Given the description of an element on the screen output the (x, y) to click on. 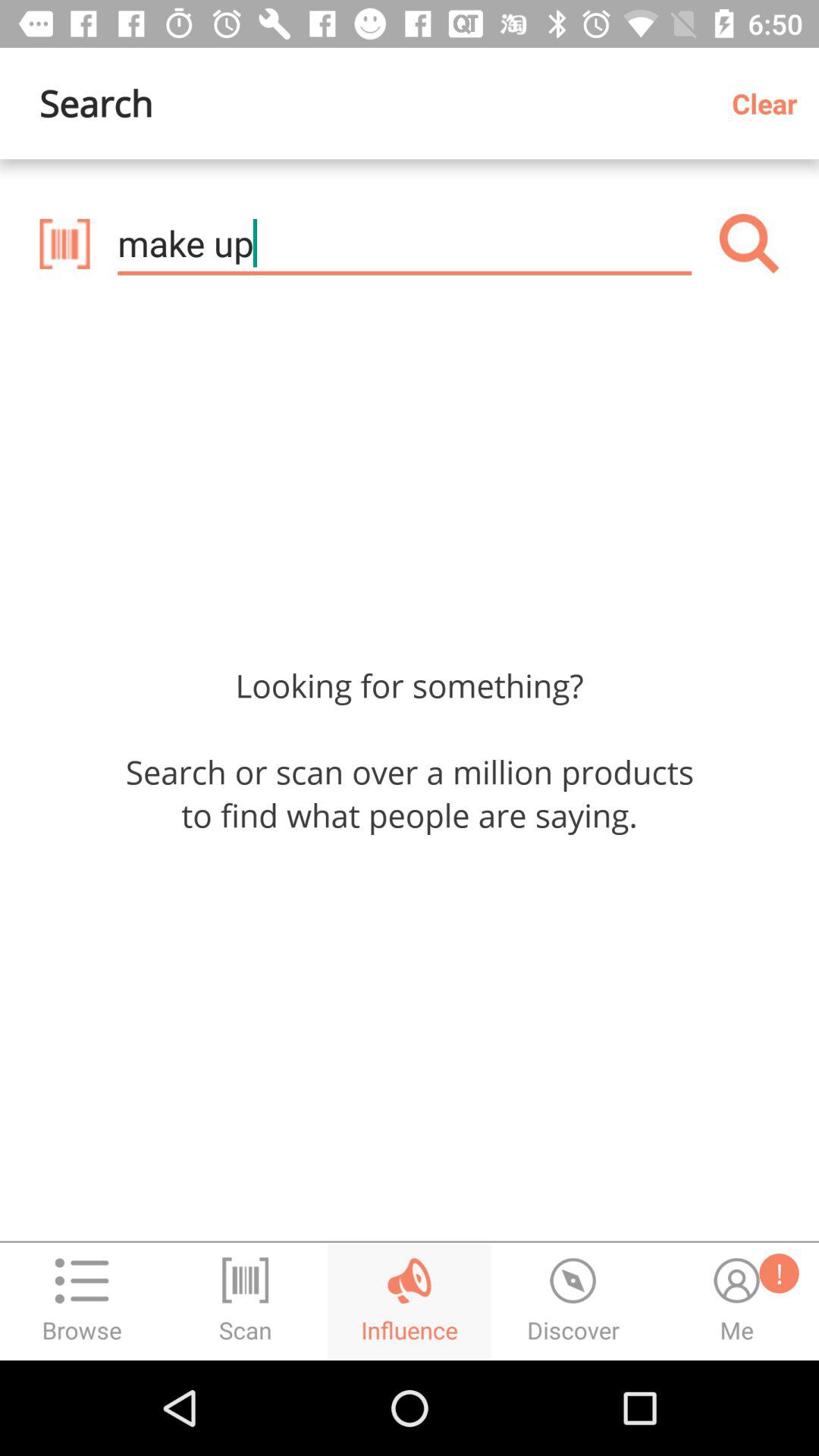
select the item below search icon (404, 243)
